Given the description of an element on the screen output the (x, y) to click on. 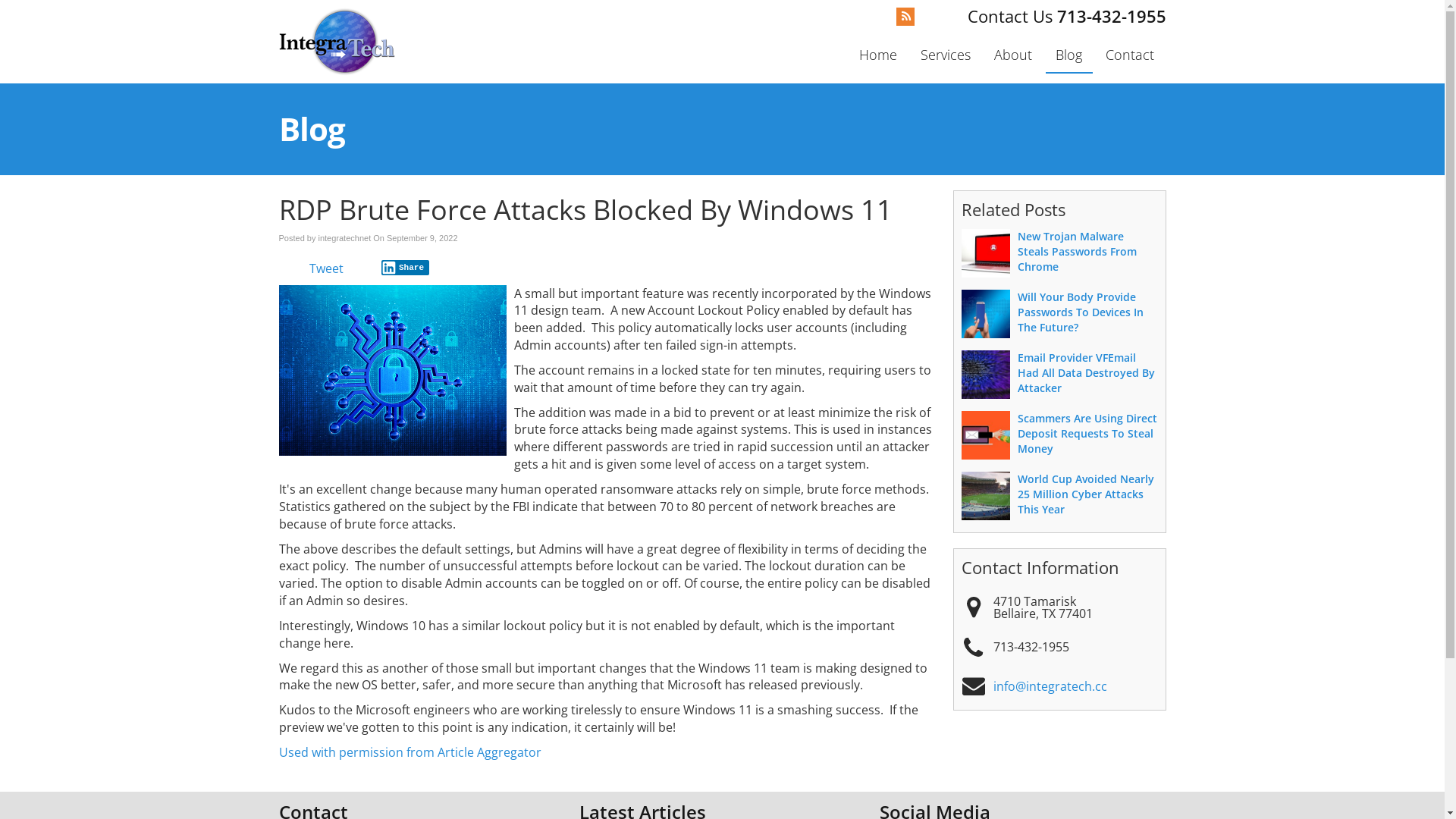
World Cup Avoided Nearly 25 Million Cyber Attacks This Year Element type: text (1085, 493)
Share Element type: text (404, 267)
Tweet Element type: text (326, 268)
Scammers Are Using Direct Deposit Requests To Steal Money  Element type: text (1087, 433)
Blog Element type: text (1068, 55)
Services Element type: text (945, 54)
info@integratech.cc Element type: text (1050, 685)
About Element type: text (1013, 54)
Email Provider VFEmail Had All Data Destroyed By Attacker Element type: text (1085, 372)
Used with permission from Article Aggregator Element type: text (410, 751)
Home Element type: text (878, 54)
New Trojan Malware Steals Passwords From Chrome Element type: text (1076, 251)
RSS Feed Element type: text (905, 16)
Contact Element type: text (1129, 54)
Will Your Body Provide Passwords To Devices In The Future? Element type: text (1080, 311)
713-432-1955 Element type: text (1066, 15)
